Given the description of an element on the screen output the (x, y) to click on. 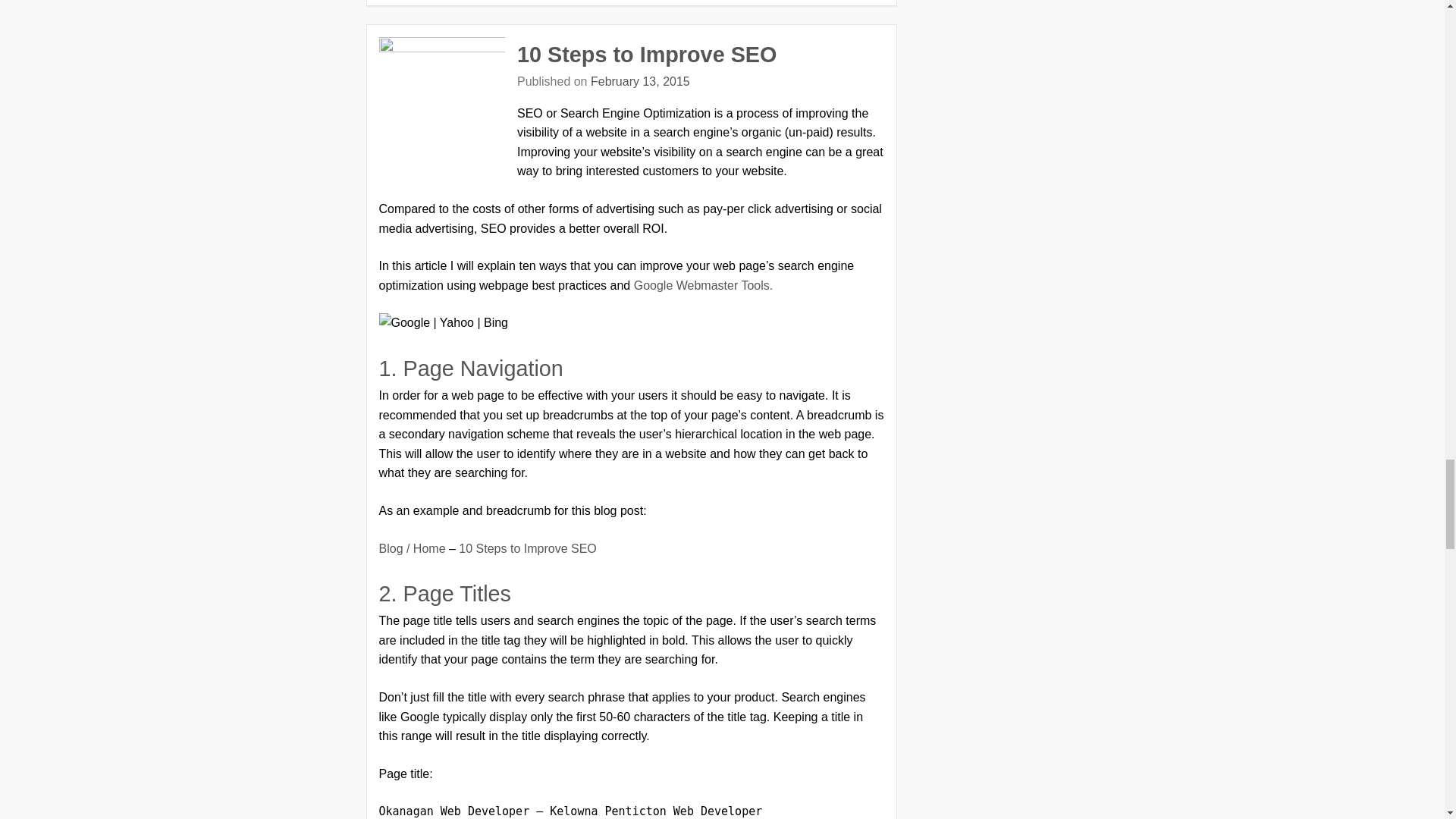
10 Steps to Improve SEO (646, 54)
February 13, 2015 (640, 81)
Google Webmaster Tools. (703, 285)
10 Steps to Improve SEO (526, 548)
